Given the description of an element on the screen output the (x, y) to click on. 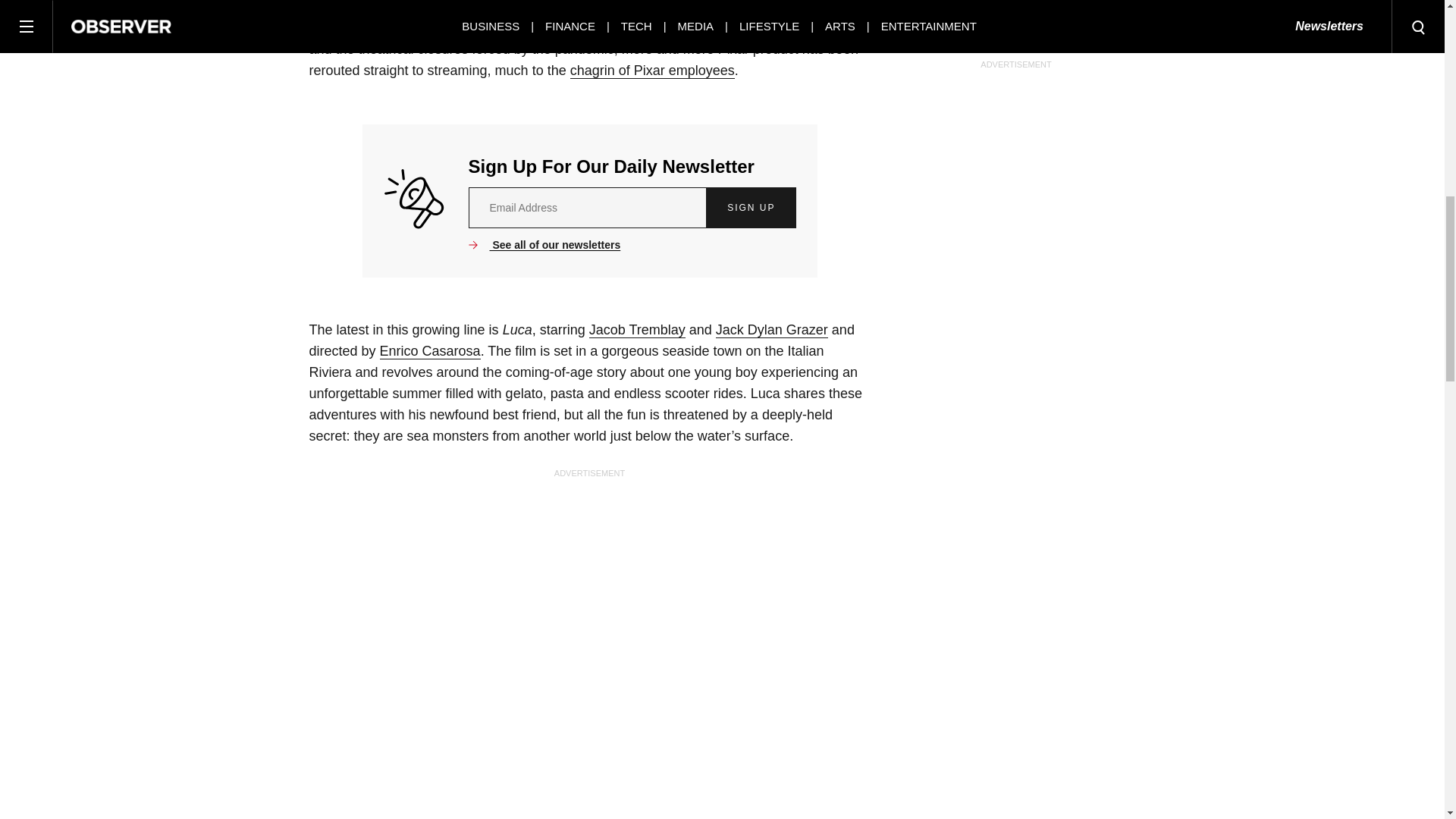
Jacob Tremblay (637, 330)
Jack Dylan Grazer (772, 330)
Enrico Casarosa (430, 351)
